Given the description of an element on the screen output the (x, y) to click on. 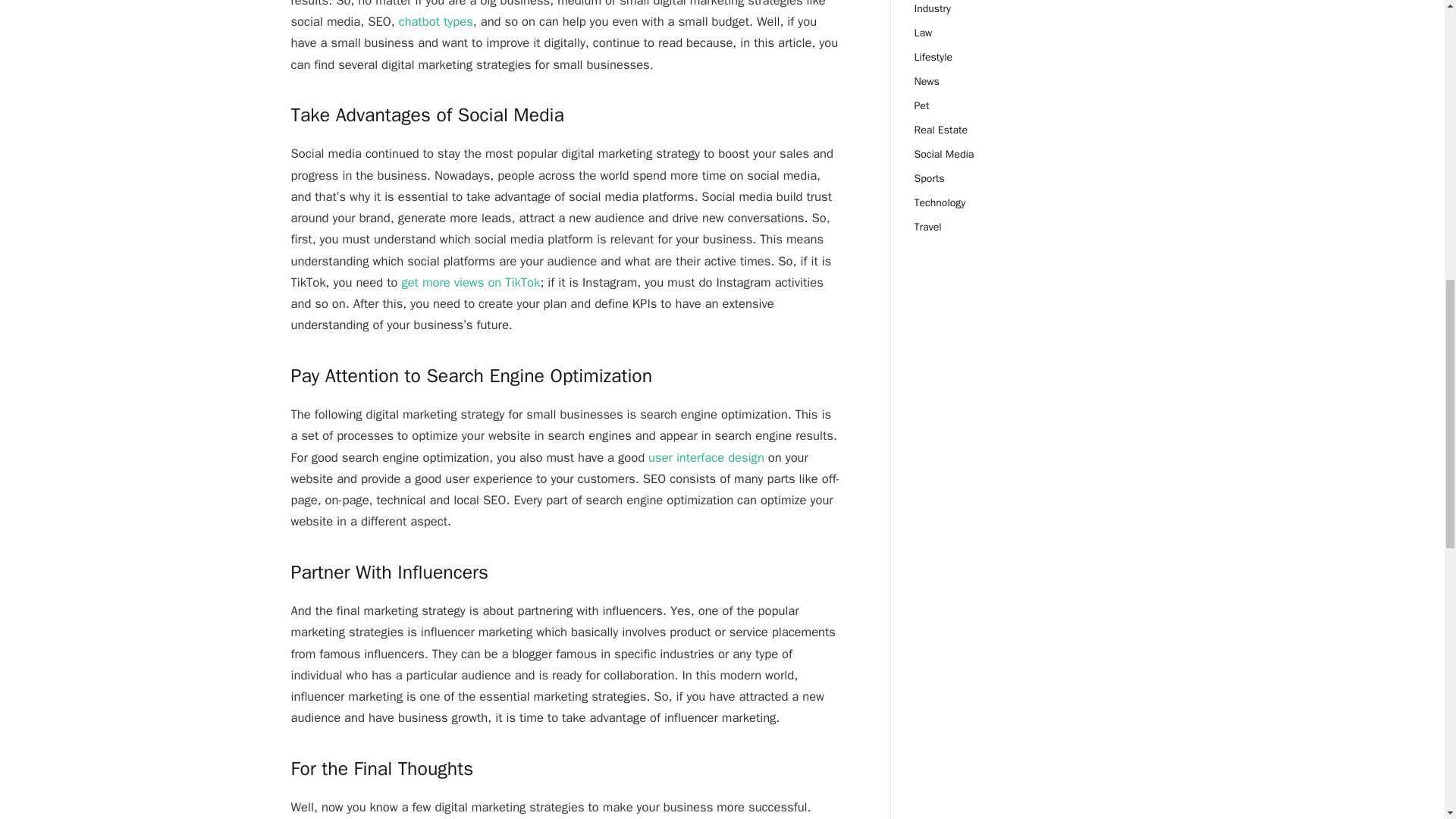
user interface design (705, 457)
get more views on TikTok (470, 282)
chatbot types (435, 21)
